Given the description of an element on the screen output the (x, y) to click on. 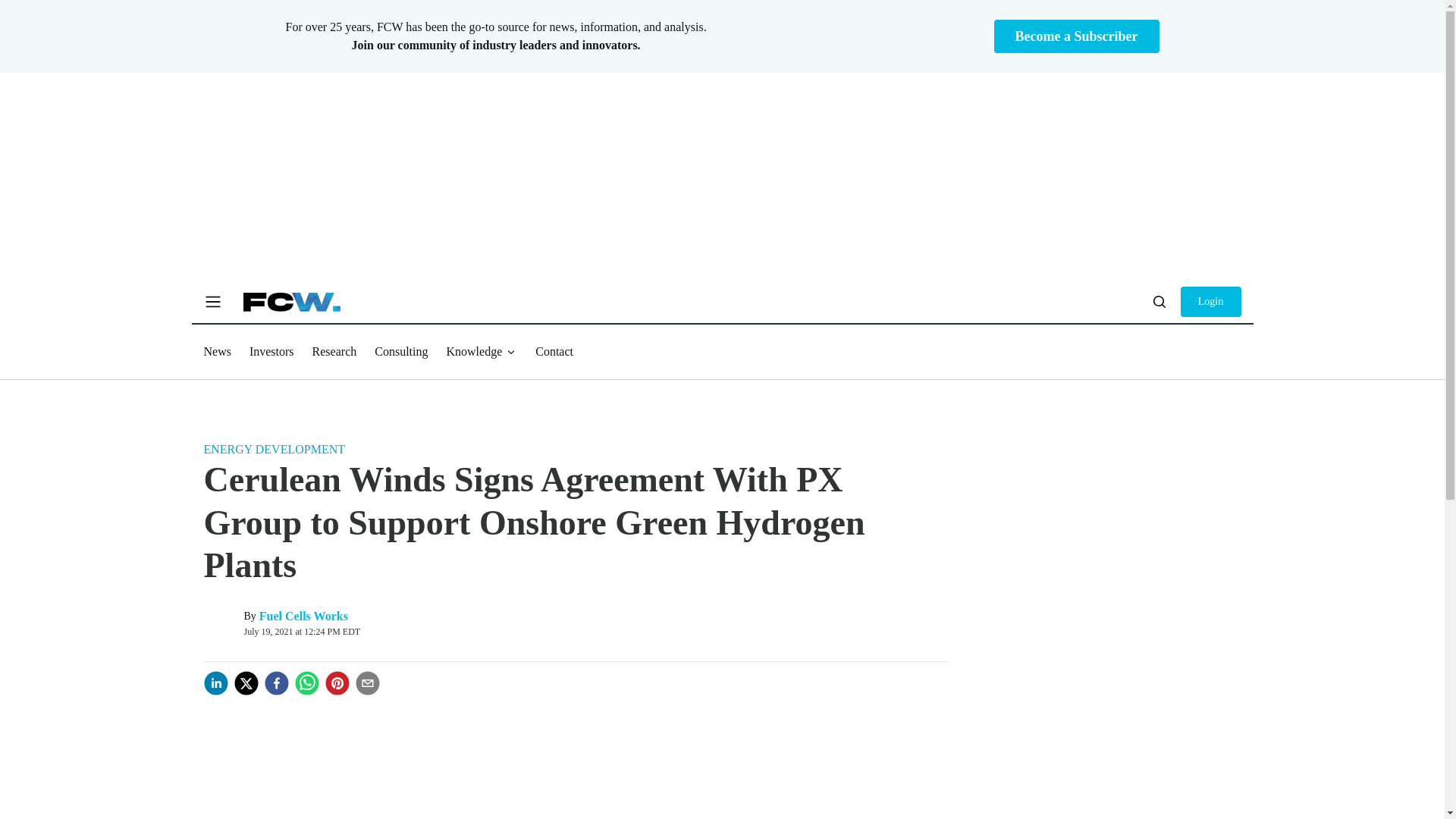
Become a Subscriber (1076, 36)
News (216, 350)
Research (334, 350)
Investors (271, 350)
Login (1209, 301)
Contact (554, 350)
Consulting (401, 350)
Knowledge (480, 352)
ENERGY DEVELOPMENT (274, 449)
